Given the description of an element on the screen output the (x, y) to click on. 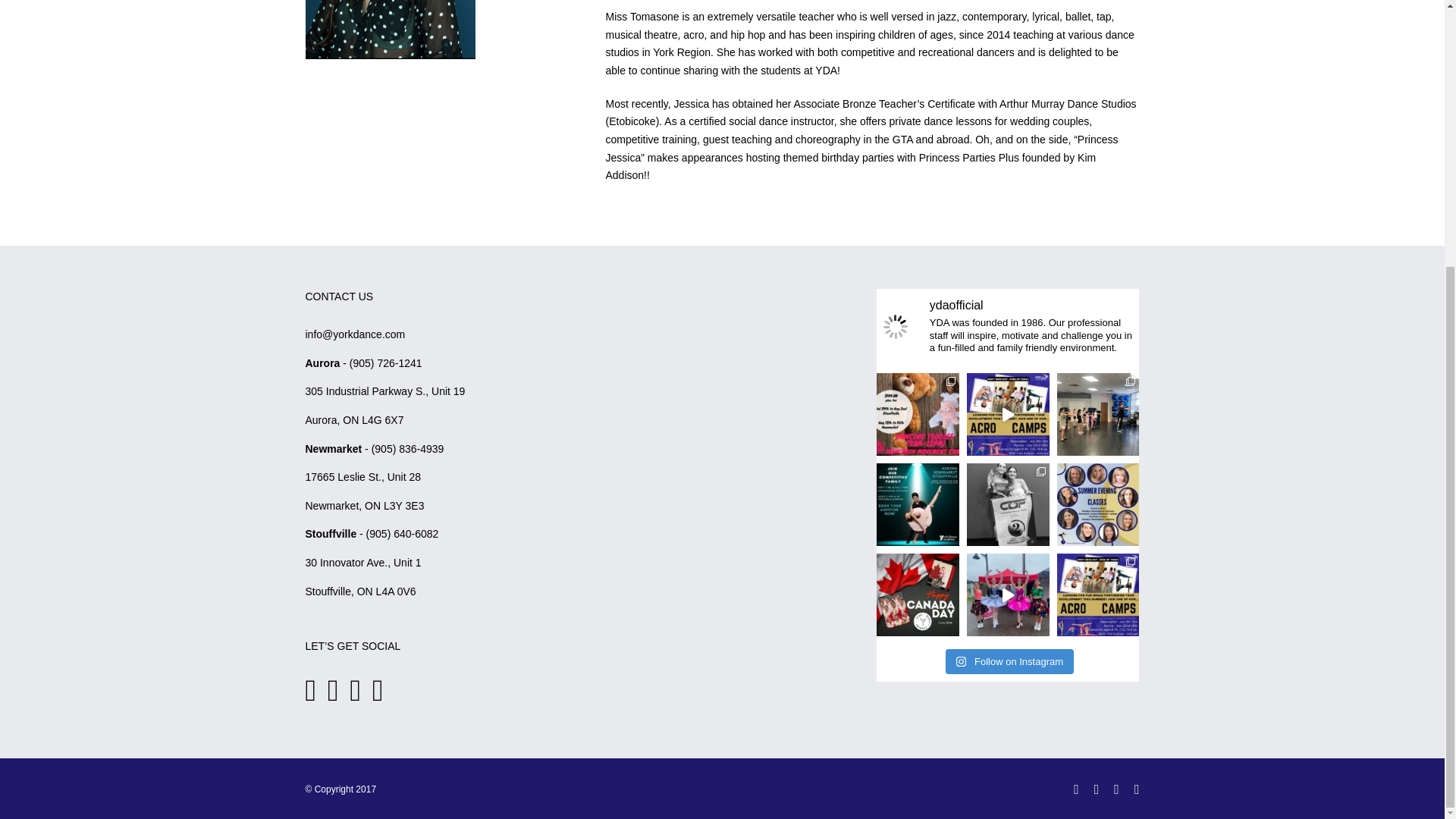
Jessica head shot (389, 29)
